Given the description of an element on the screen output the (x, y) to click on. 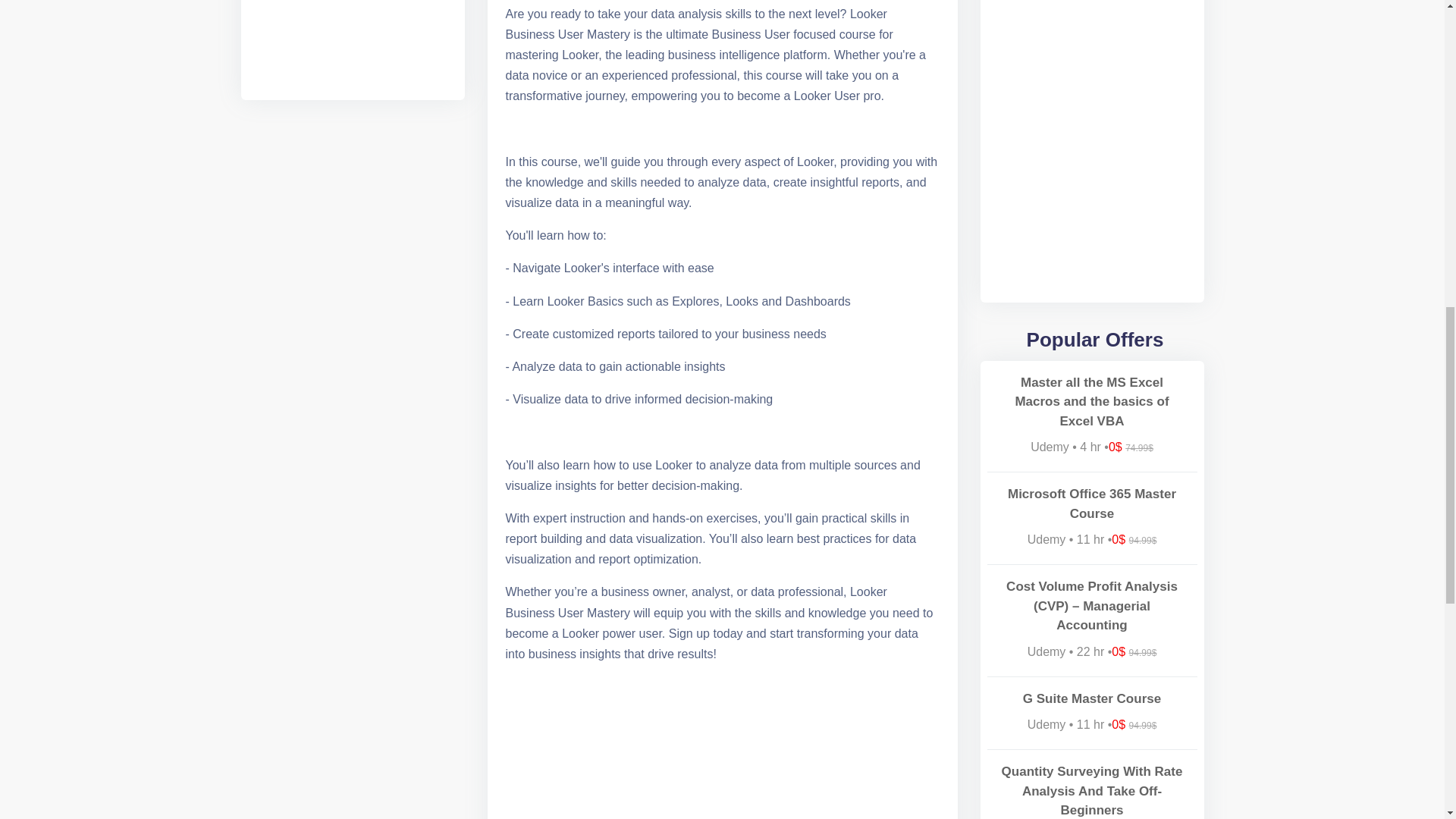
Advertisement (352, 42)
